Given the description of an element on the screen output the (x, y) to click on. 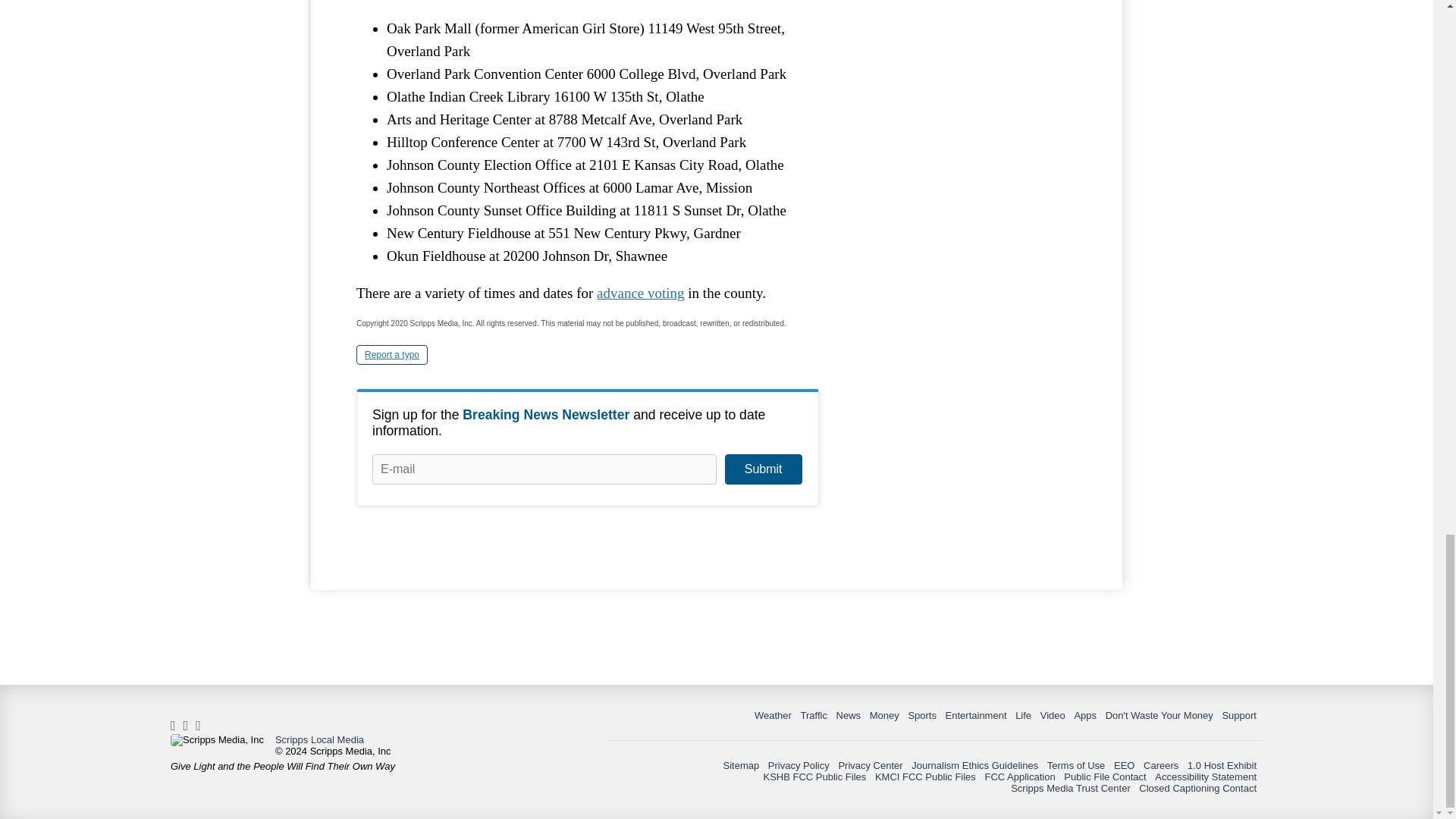
Submit (763, 469)
